Given the description of an element on the screen output the (x, y) to click on. 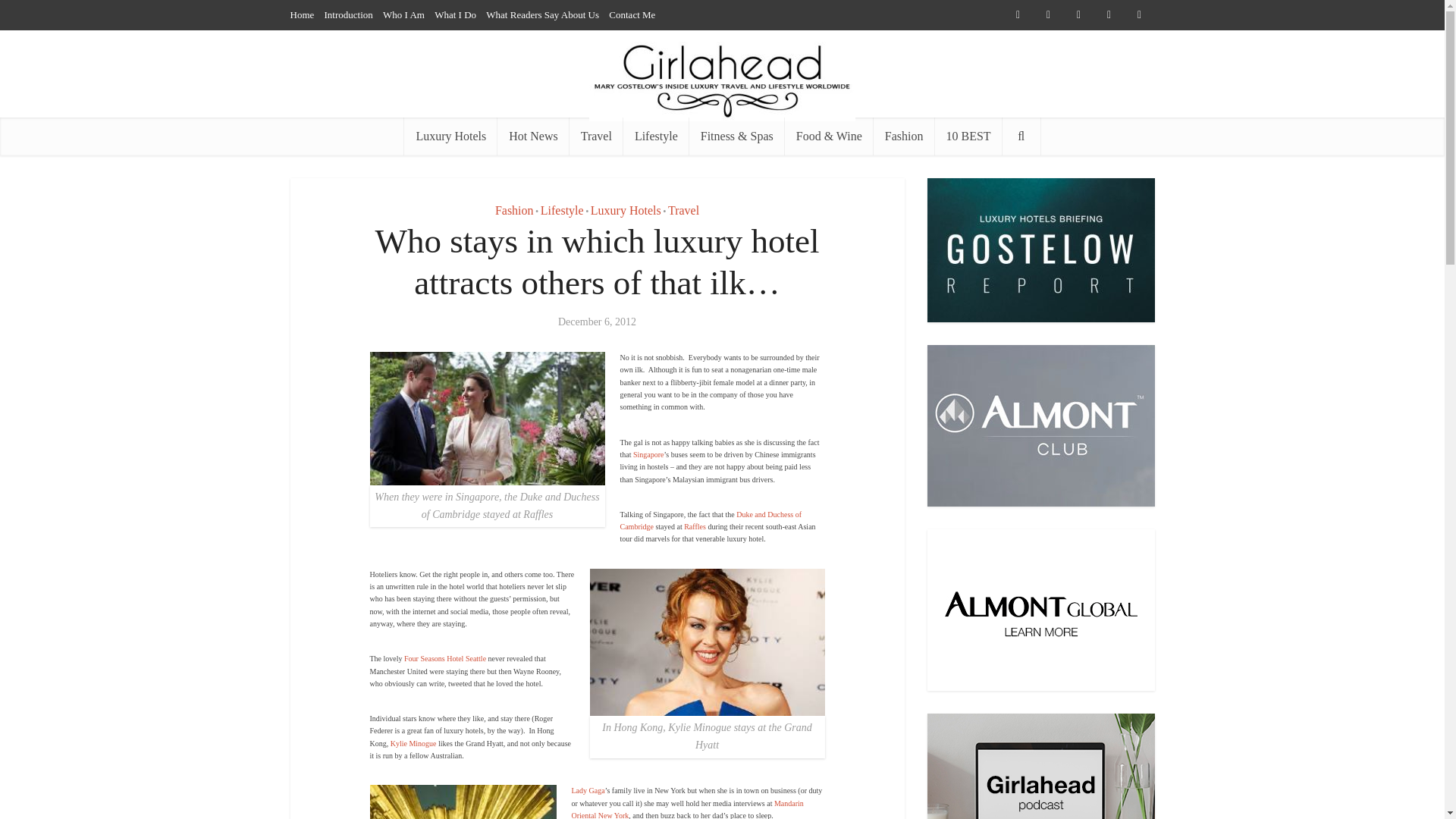
Luxury Hotels (450, 136)
Travel (596, 136)
Duchess-Cambridge (487, 418)
lady-gaga-NY (462, 801)
Hot News (533, 136)
What Readers Say About Us (542, 14)
Who I Am (403, 14)
Kyle-GHyatt (707, 641)
Home (301, 14)
Ritz-Carlton Millenia titillates the senses (648, 454)
Fashion (514, 210)
10 BEST (967, 136)
Lifestyle (655, 136)
Grand Hyatt Hong Kong provides a luxury welcome to town (413, 743)
